Given the description of an element on the screen output the (x, y) to click on. 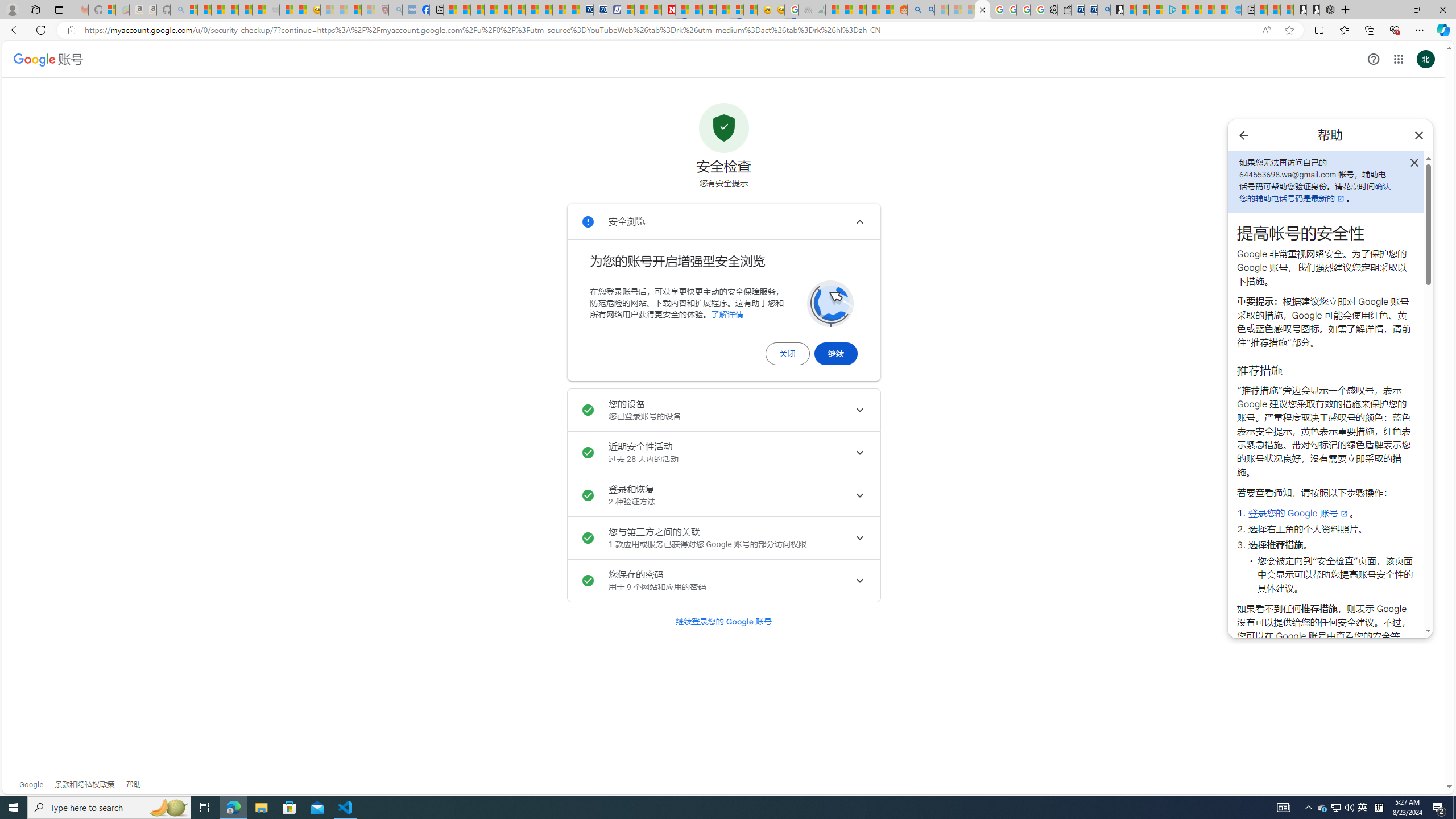
Combat Siege - Sleeping (271, 9)
